Given the description of an element on the screen output the (x, y) to click on. 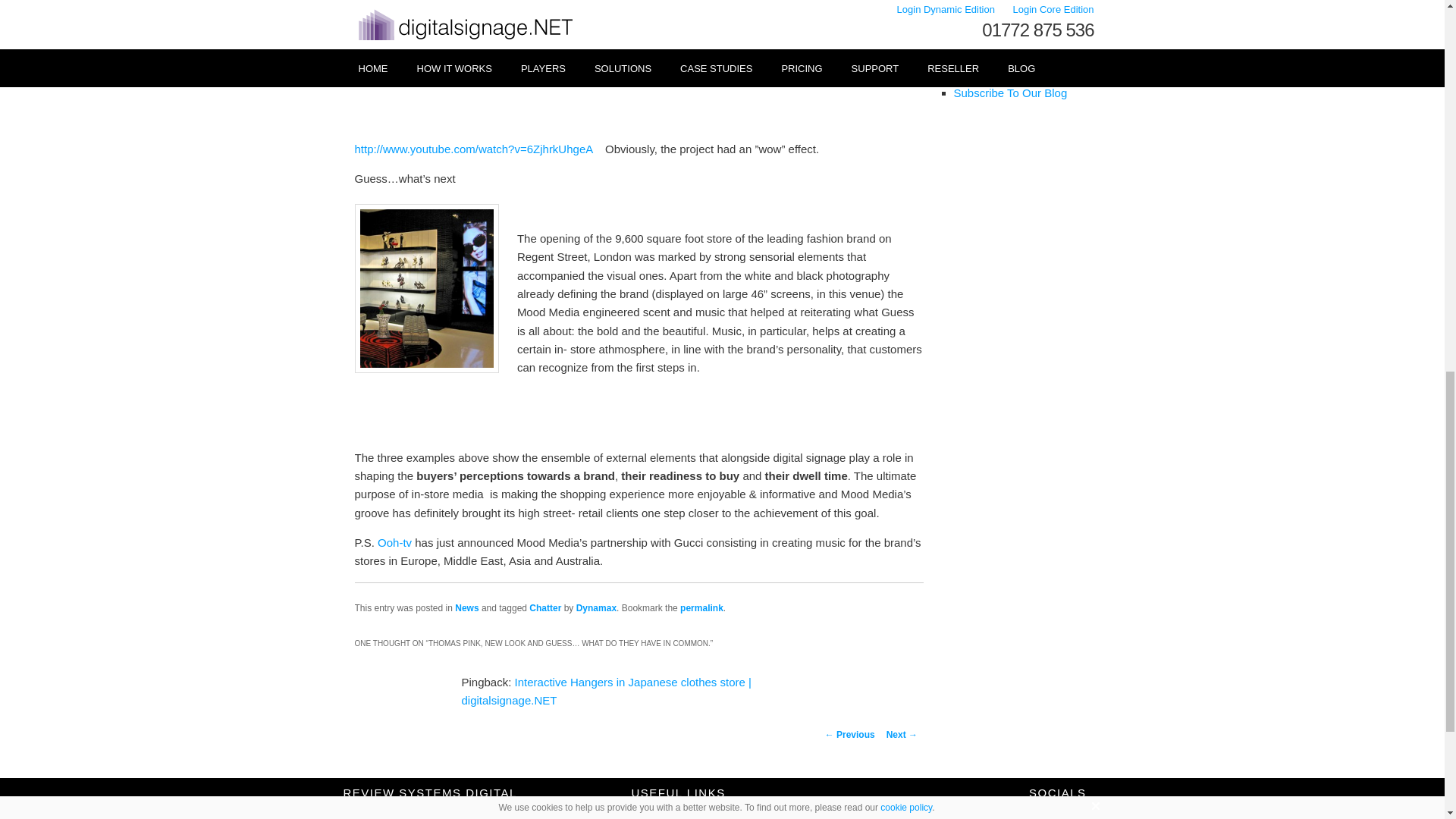
New-Look (433, 9)
News (466, 607)
Ooh-tv (394, 542)
Dynamax (595, 607)
Chatter (544, 607)
Partner Area (662, 814)
permalink (701, 607)
